Given the description of an element on the screen output the (x, y) to click on. 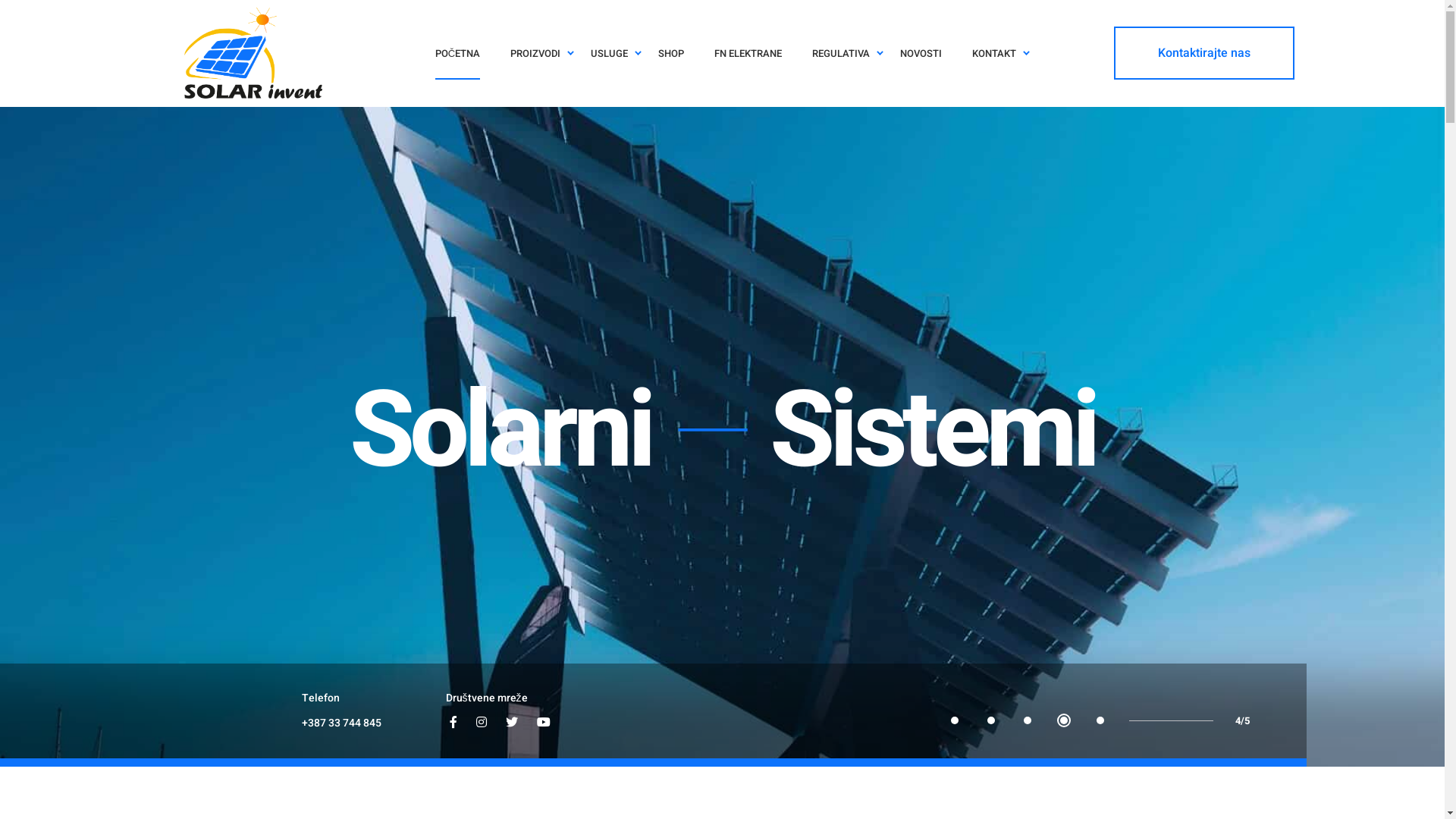
+387 33 744 845 Element type: text (341, 723)
1 Element type: text (954, 720)
3 Element type: text (1027, 720)
KONTAKT Element type: text (994, 53)
REGULATIVA Element type: text (840, 53)
2 Element type: text (990, 720)
NOVOSTI Element type: text (920, 53)
Kontaktirajte nas Element type: text (1203, 52)
SHOP Element type: text (671, 53)
PROIZVODI Element type: text (535, 53)
4 Element type: text (1063, 720)
5 Element type: text (1100, 720)
USLUGE Element type: text (608, 53)
FN ELEKTRANE Element type: text (747, 53)
